Given the description of an element on the screen output the (x, y) to click on. 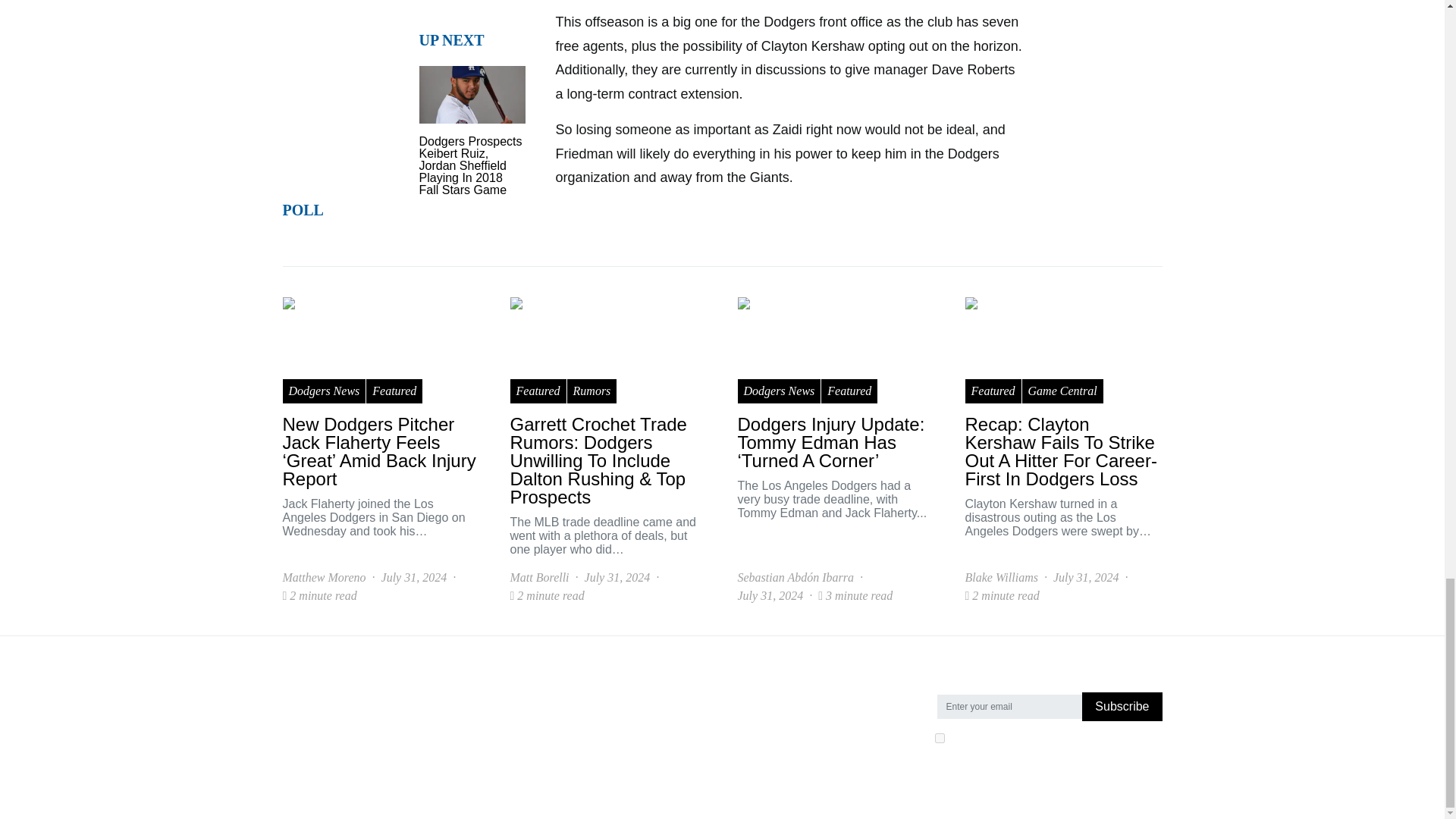
on (938, 737)
View all posts by Matthew Moreno (323, 577)
View all posts by Matt Borelli (539, 577)
View all posts by Blake Williams (999, 577)
